Given the description of an element on the screen output the (x, y) to click on. 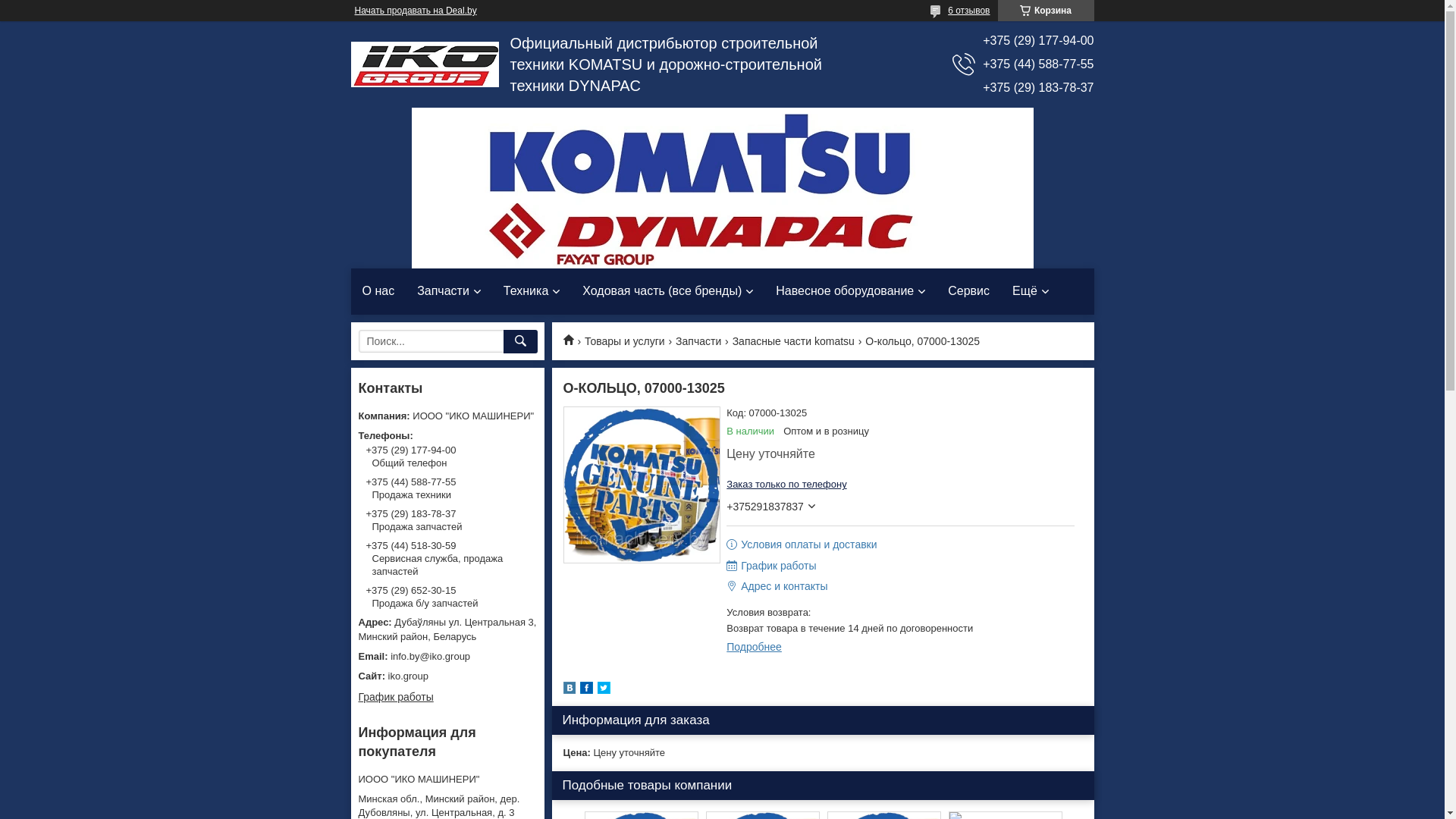
twitter Element type: hover (603, 690)
facebook Element type: hover (585, 690)
info.by@iko.group Element type: text (446, 656)
iko.group Element type: text (446, 676)
